Given the description of an element on the screen output the (x, y) to click on. 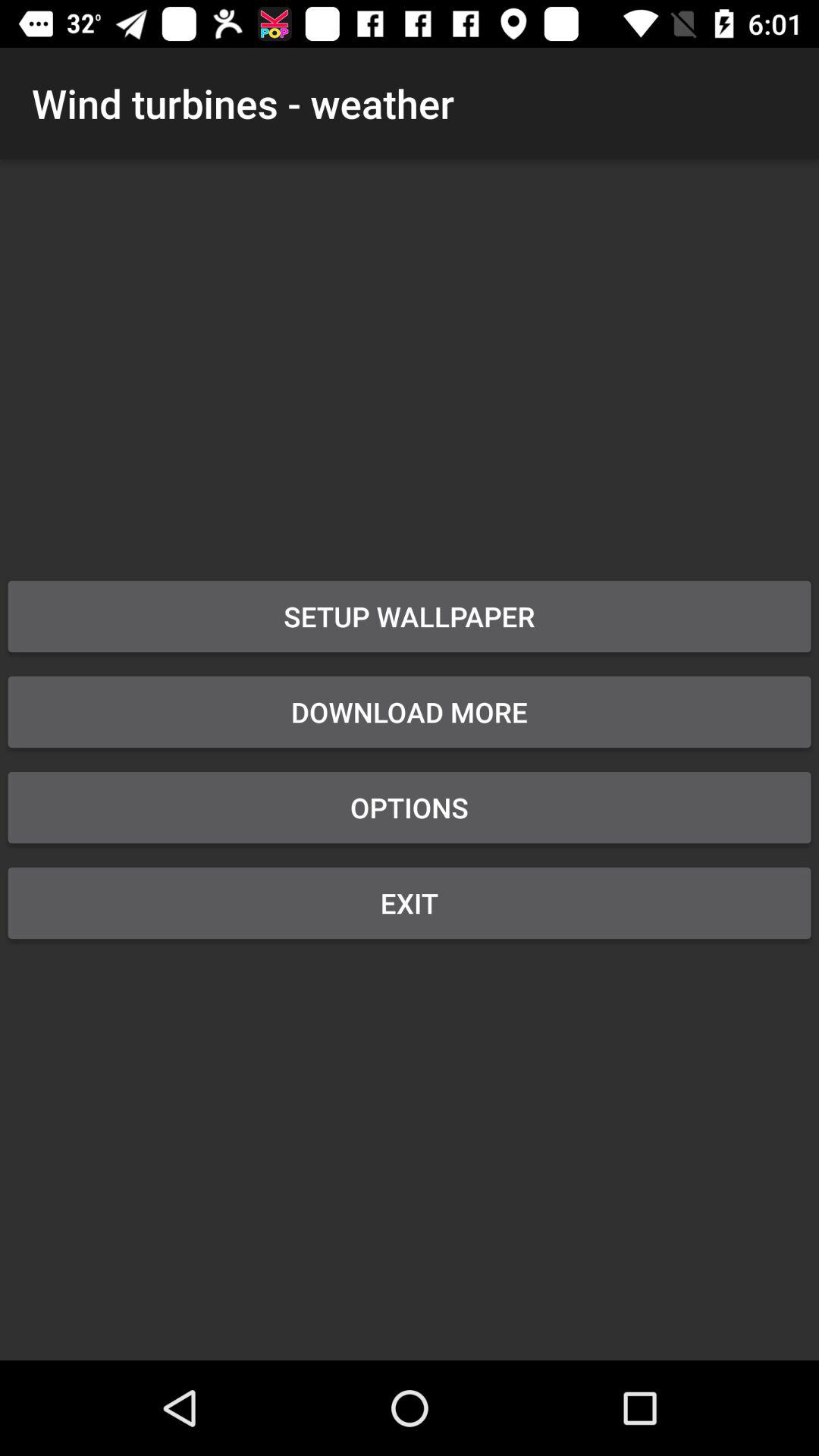
press setup wallpaper icon (409, 616)
